Given the description of an element on the screen output the (x, y) to click on. 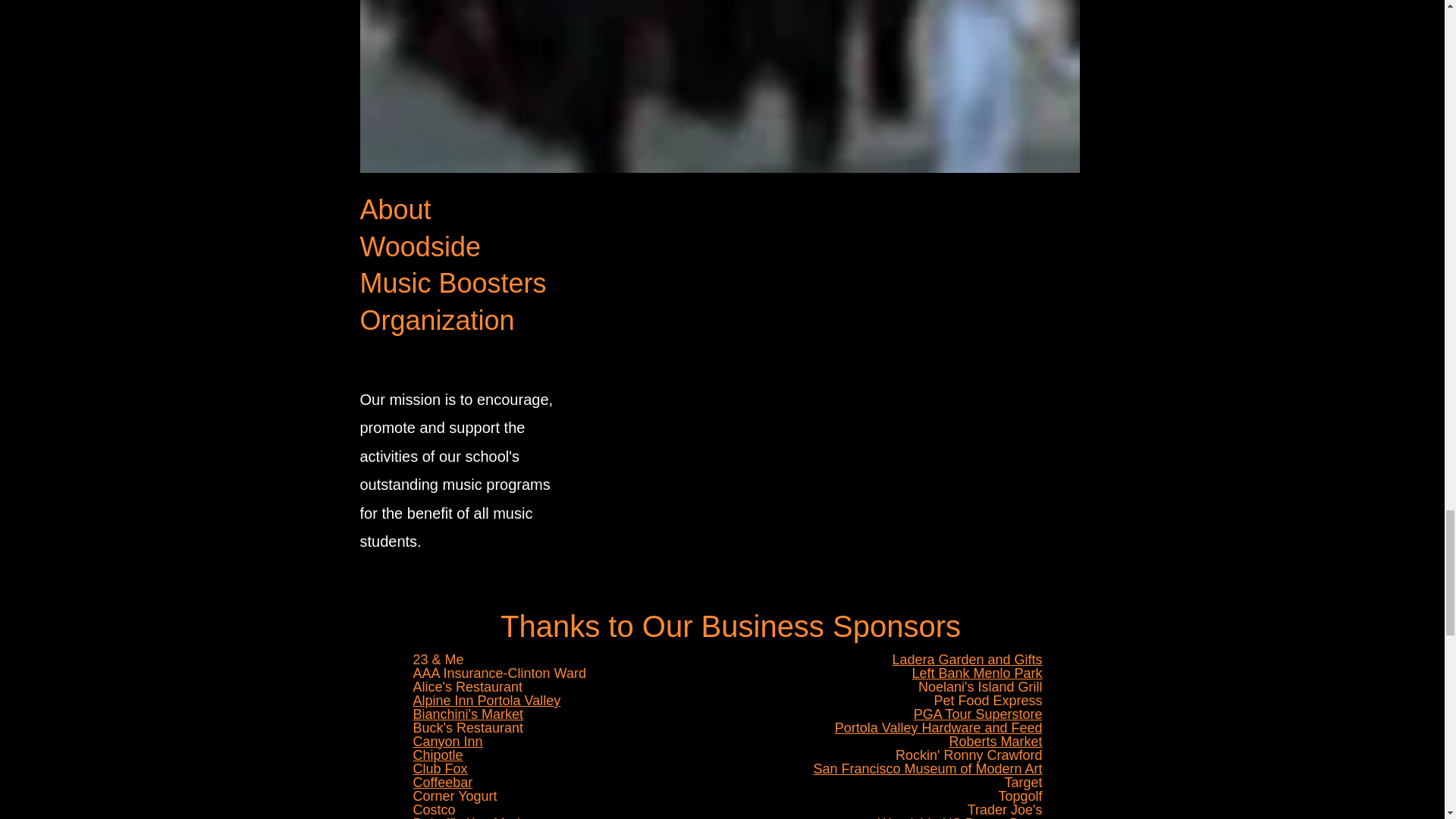
Chipotle (437, 754)
PGA Tour Superstore (978, 713)
Canyon Inn (446, 741)
Club Fox (439, 768)
Dehoff's Key Market (473, 817)
Alpine Inn Portola Valley (486, 700)
Ladera Garden and Gifts (966, 659)
Bianchini's Market (467, 713)
Coffeebar (441, 782)
Left Bank Menlo Park (976, 672)
